Given the description of an element on the screen output the (x, y) to click on. 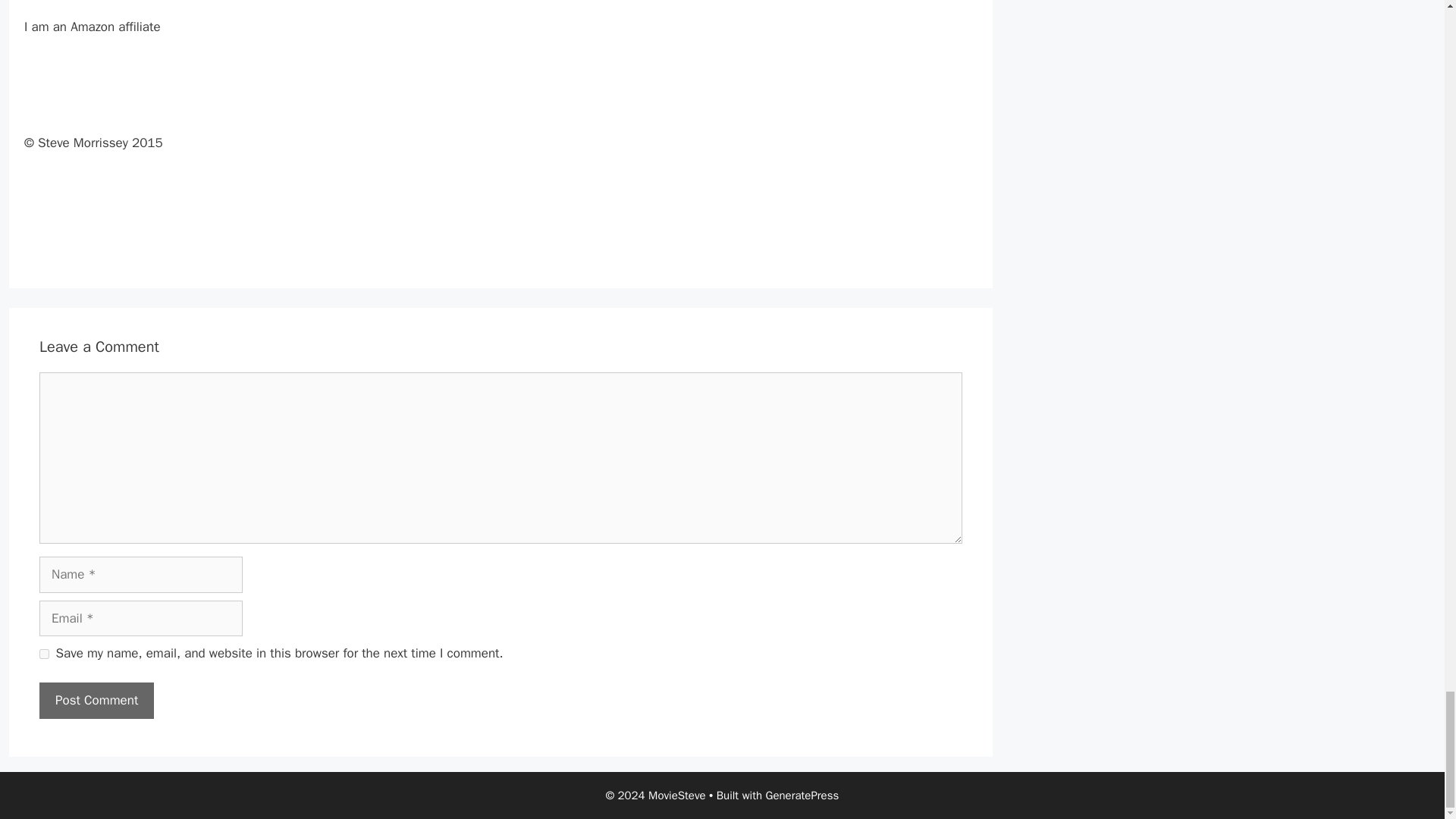
Post Comment (96, 700)
yes (44, 654)
Post Comment (96, 700)
